Given the description of an element on the screen output the (x, y) to click on. 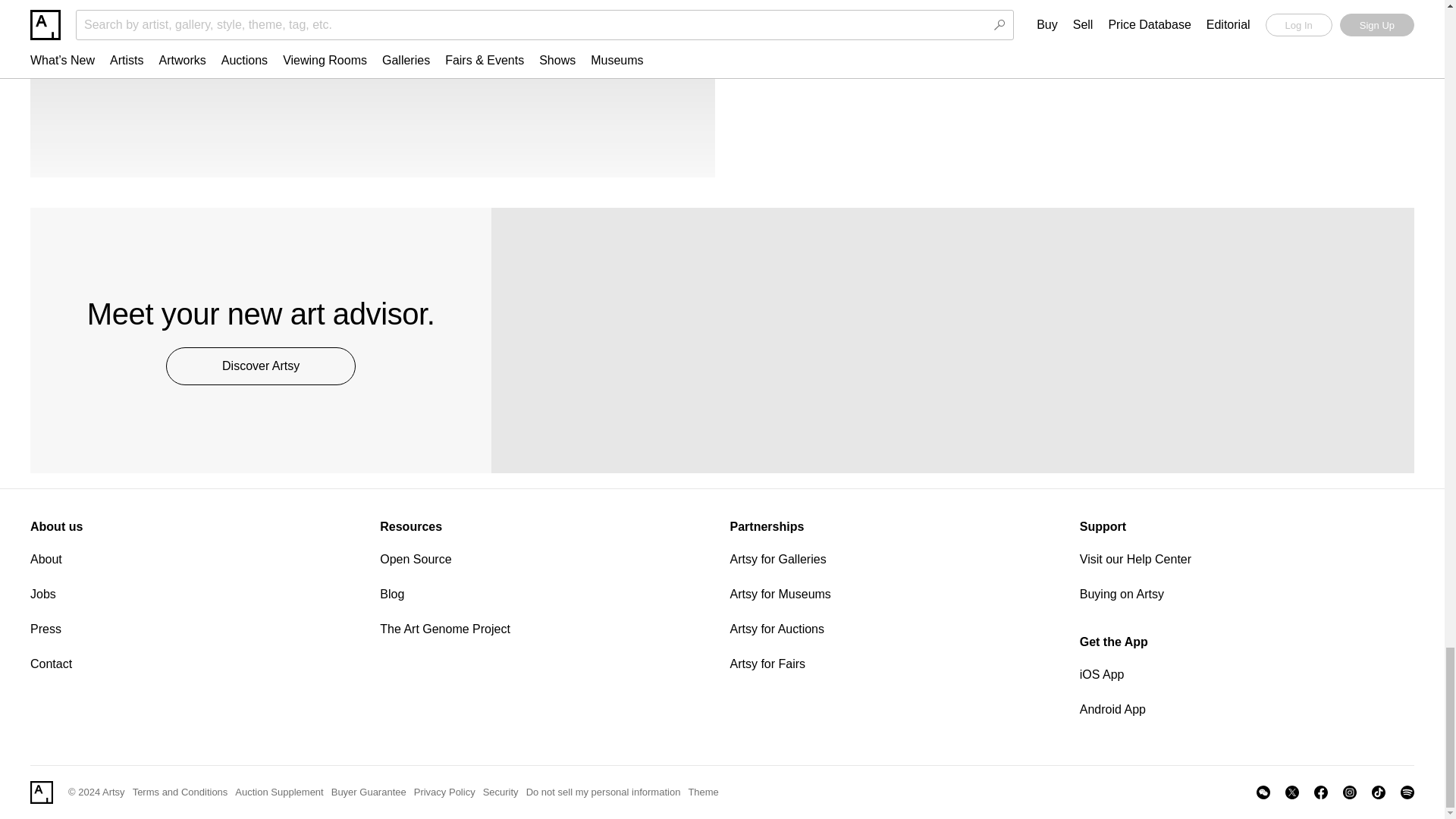
Artsy (41, 792)
